Given the description of an element on the screen output the (x, y) to click on. 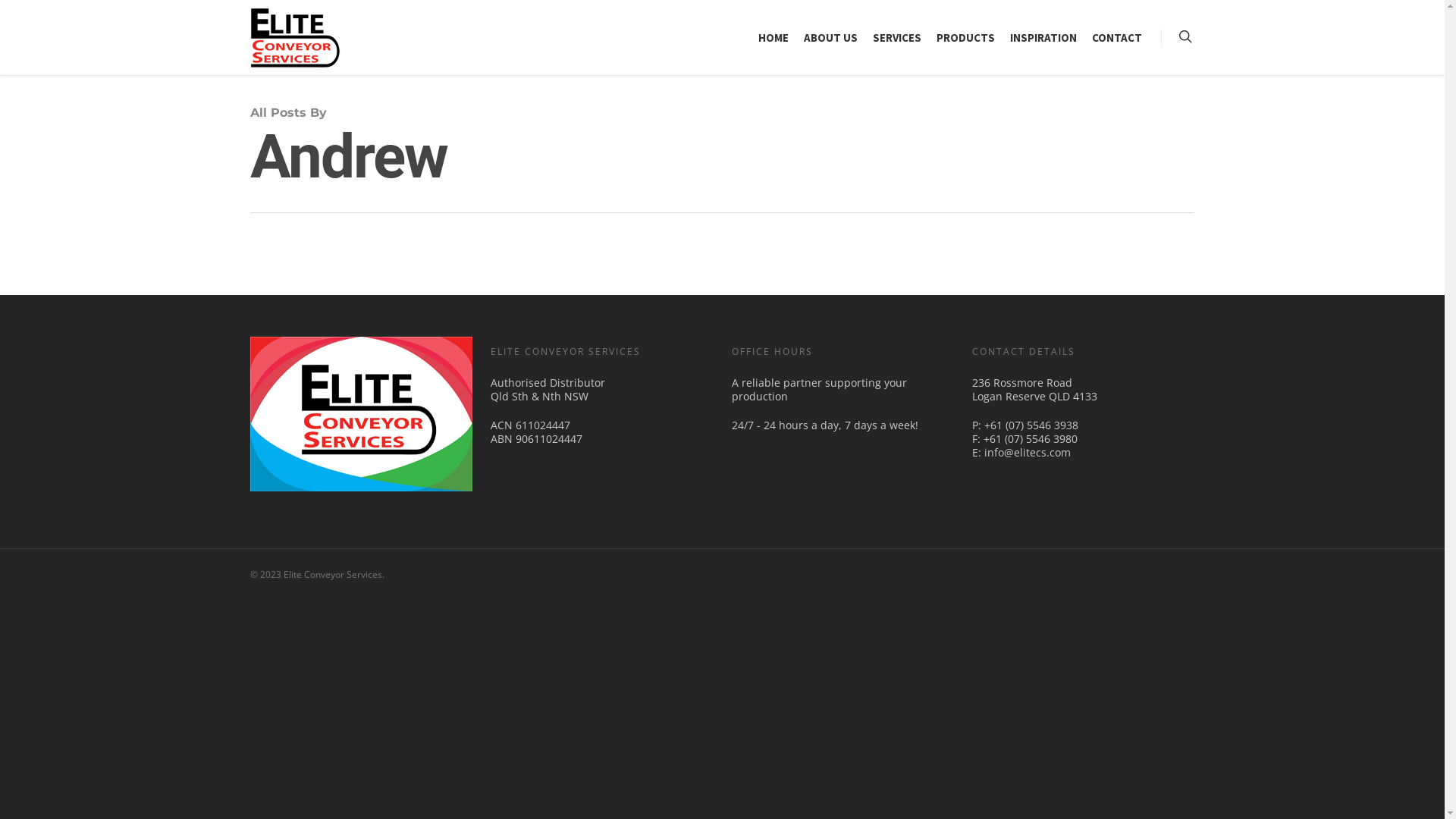
CONTACT Element type: text (1117, 41)
info@elitecs.com Element type: text (1027, 452)
INSPIRATION Element type: text (1043, 41)
PRODUCTS Element type: text (965, 41)
ABOUT US Element type: text (830, 41)
HOME Element type: text (773, 41)
SERVICES Element type: text (896, 41)
